Given the description of an element on the screen output the (x, y) to click on. 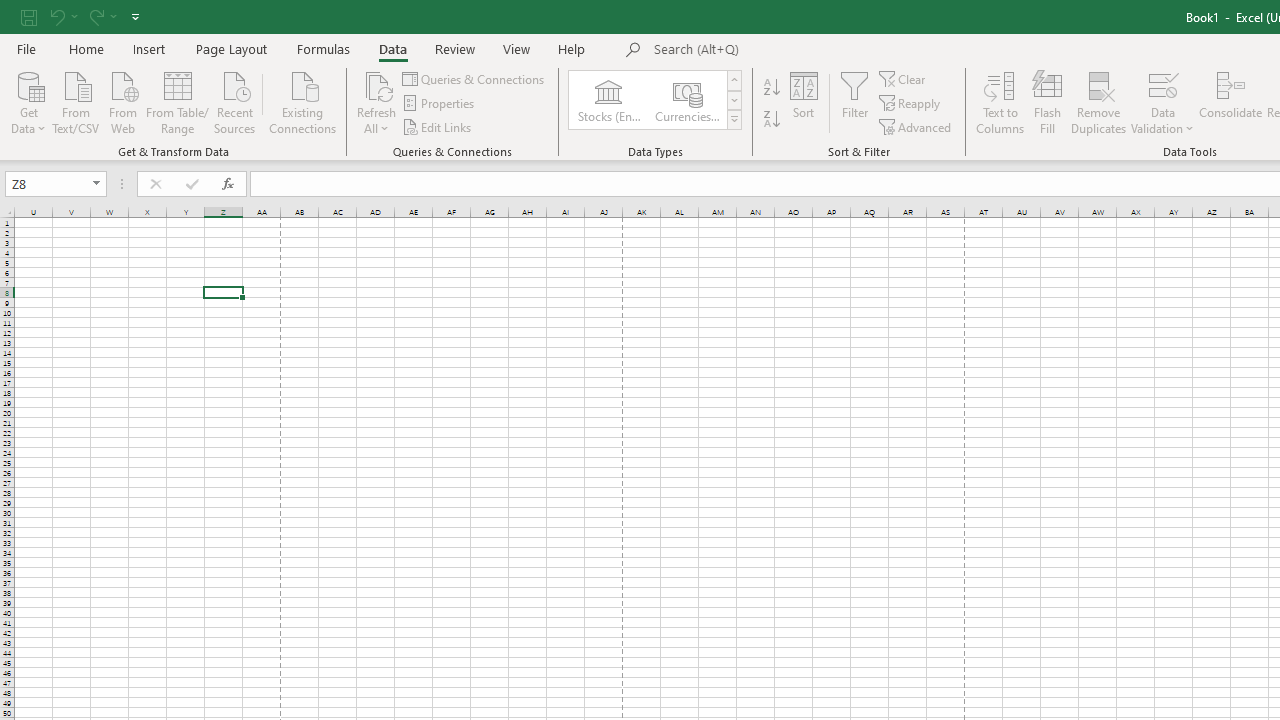
Consolidate... (1230, 102)
